Given the description of an element on the screen output the (x, y) to click on. 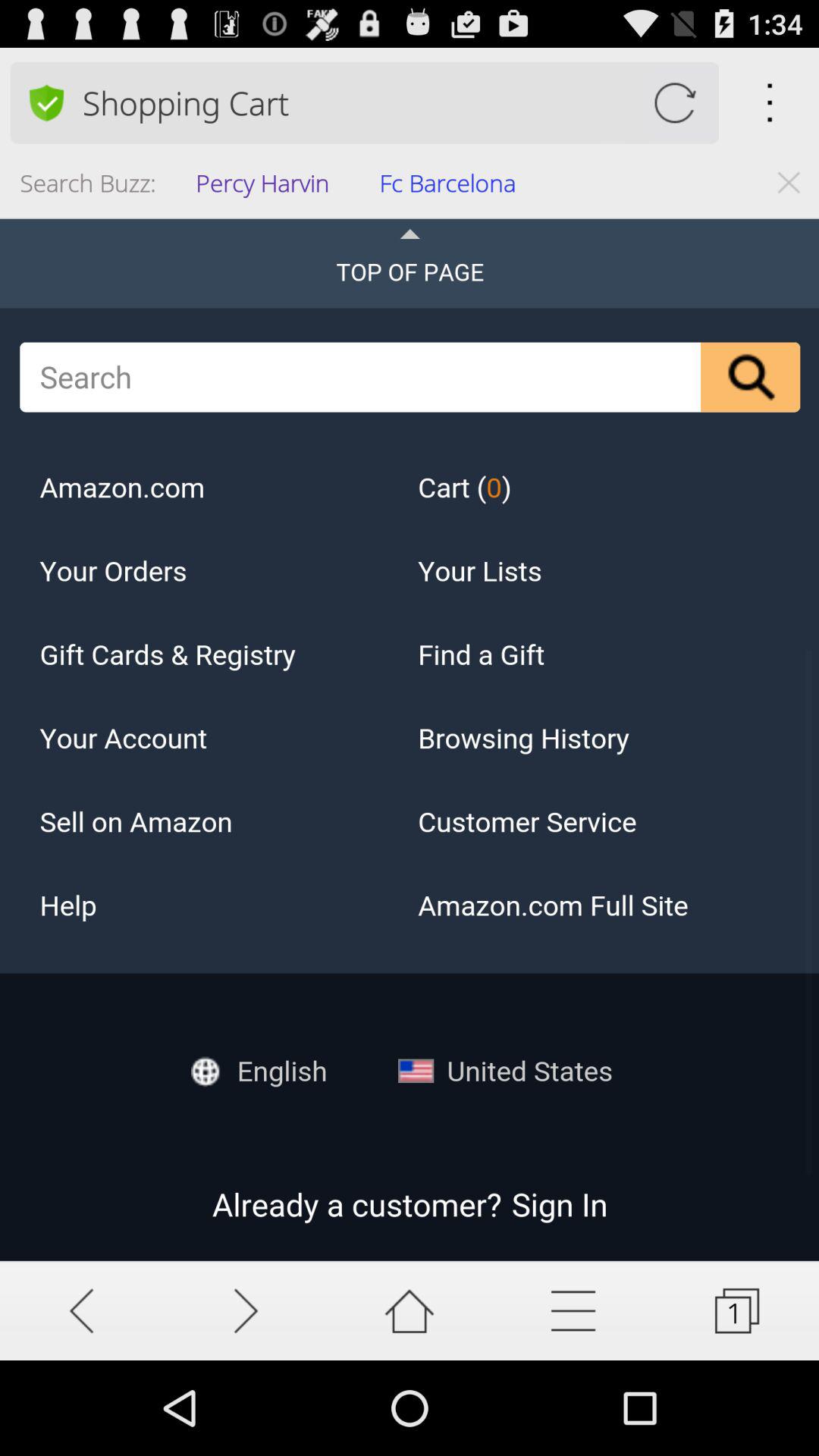
tap shopping cart item (400, 102)
